Given the description of an element on the screen output the (x, y) to click on. 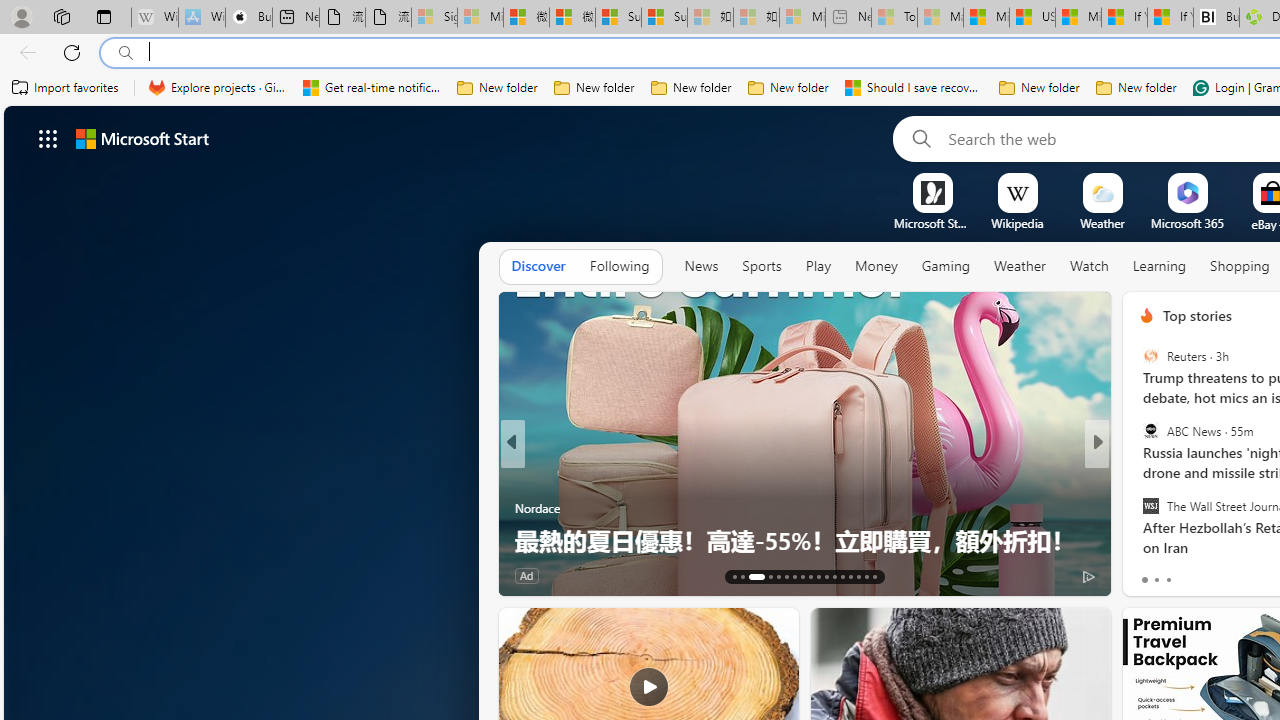
Inspiring Savings (1138, 475)
Money (875, 265)
Microsoft Start Gaming (932, 223)
Tasting Table (1138, 475)
Learning (1159, 267)
AutomationID: tab-15 (750, 576)
View comments 3 Comment (1241, 574)
AutomationID: tab-23 (825, 576)
Reuters (1149, 356)
Business Insider (1138, 475)
Indy 100 (522, 475)
AutomationID: tab-17 (778, 576)
